Given the description of an element on the screen output the (x, y) to click on. 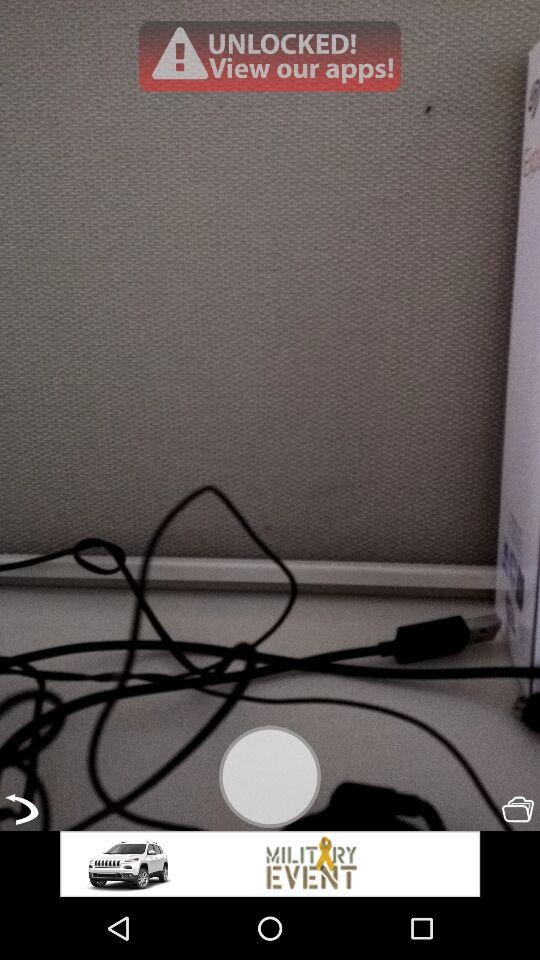
open advertisement (269, 56)
